Given the description of an element on the screen output the (x, y) to click on. 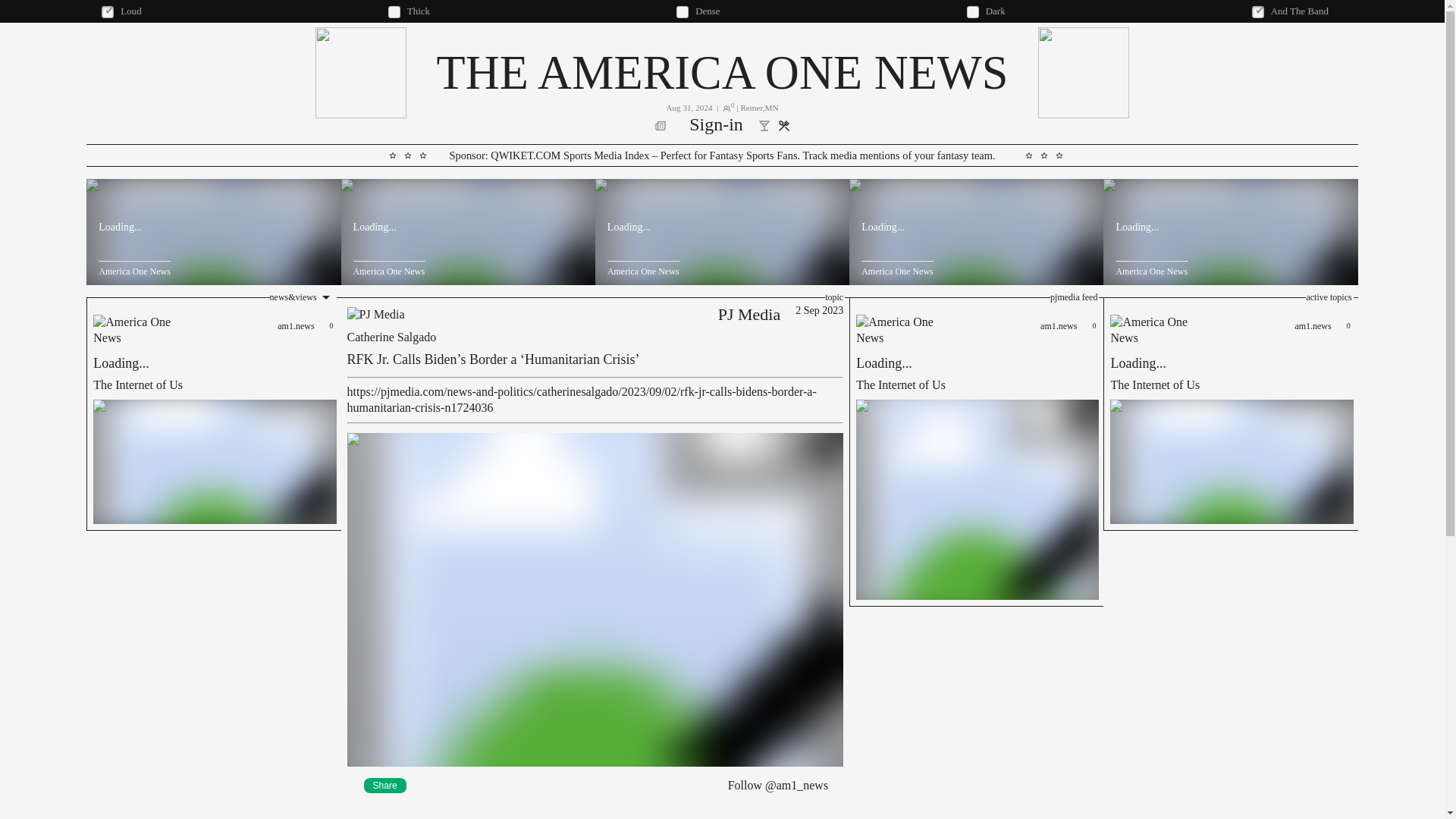
QWIKET.COM (525, 154)
Share (212, 413)
PJ Media (385, 785)
THE AMERICA ONE NEWS (749, 314)
Sign-in (720, 72)
